Given the description of an element on the screen output the (x, y) to click on. 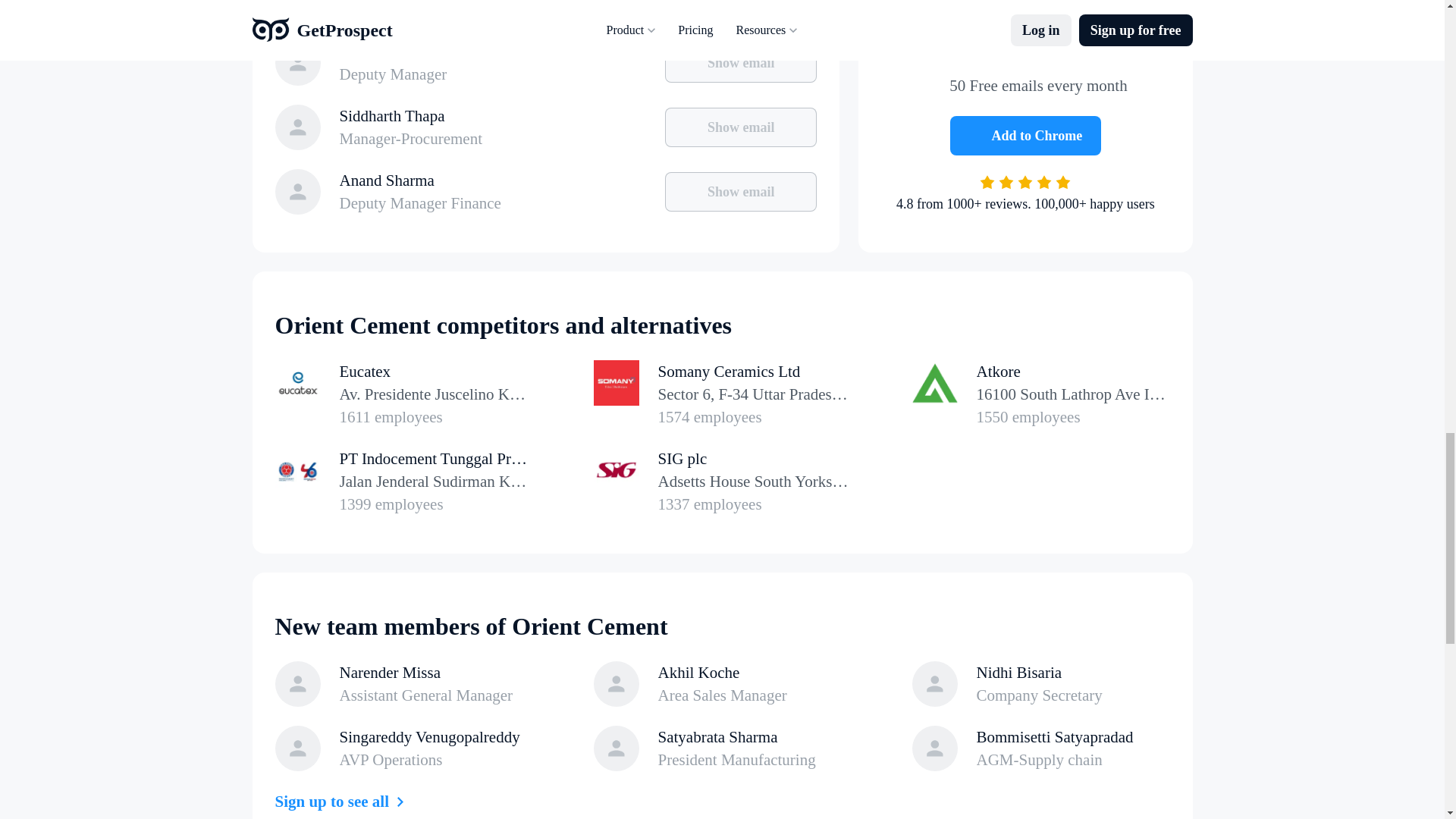
Sign up to see all (343, 801)
Show email (740, 191)
Show email (1040, 394)
Show email (740, 127)
